Given the description of an element on the screen output the (x, y) to click on. 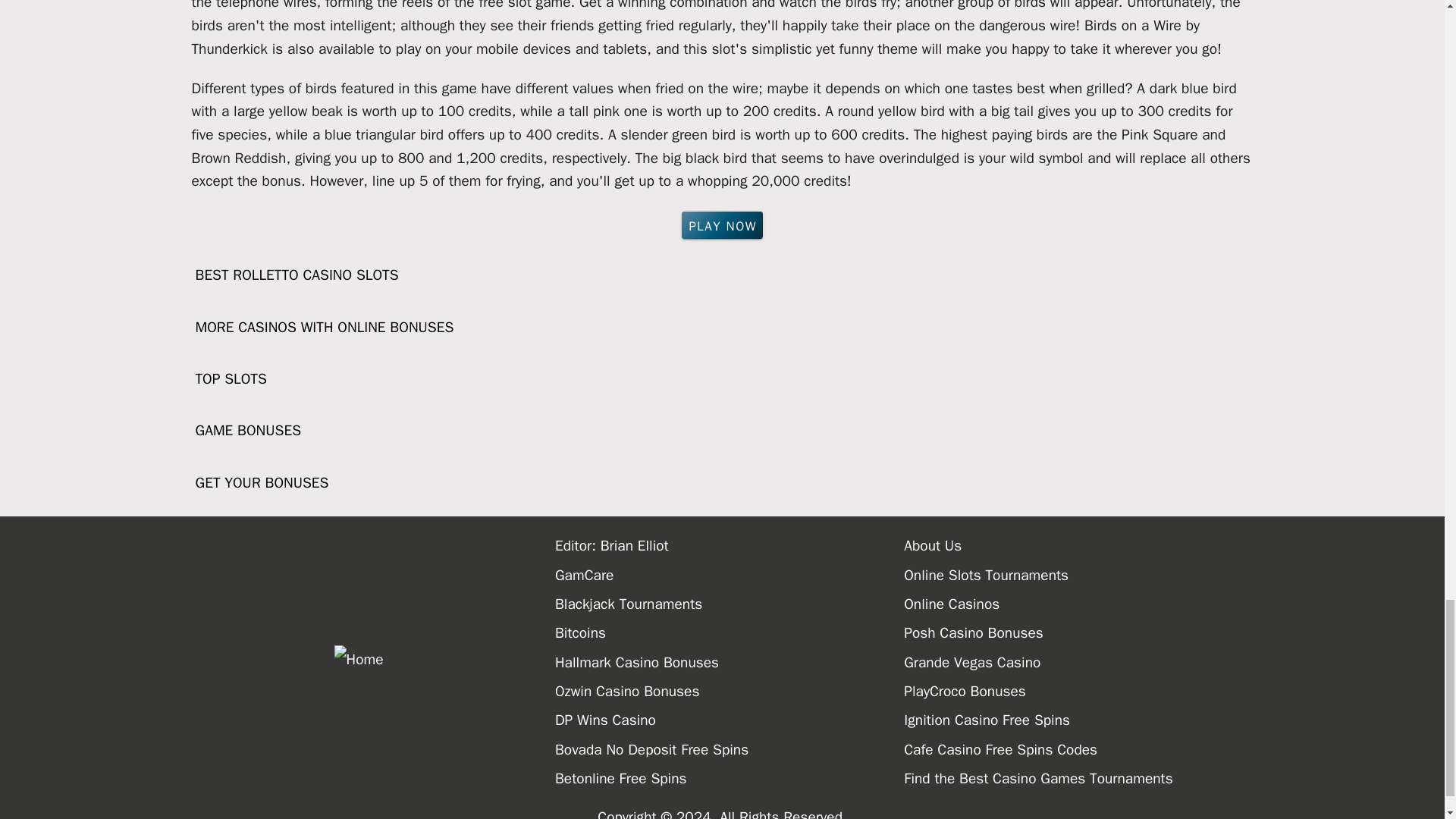
Bovada No Deposit Free Spins (729, 749)
Cafe Casino Free Spins Codes (1078, 749)
Grande Vegas Casino (1078, 662)
Blackjack Tournaments (729, 604)
PlayCroco Bonuses (1078, 691)
Hallmark Casino Bonuses (729, 662)
PLAY NOW (721, 225)
Posh Casino Bonuses (1078, 633)
Ignition Casino Free Spins (1078, 719)
Online Slots Tournaments (1078, 575)
